Given the description of an element on the screen output the (x, y) to click on. 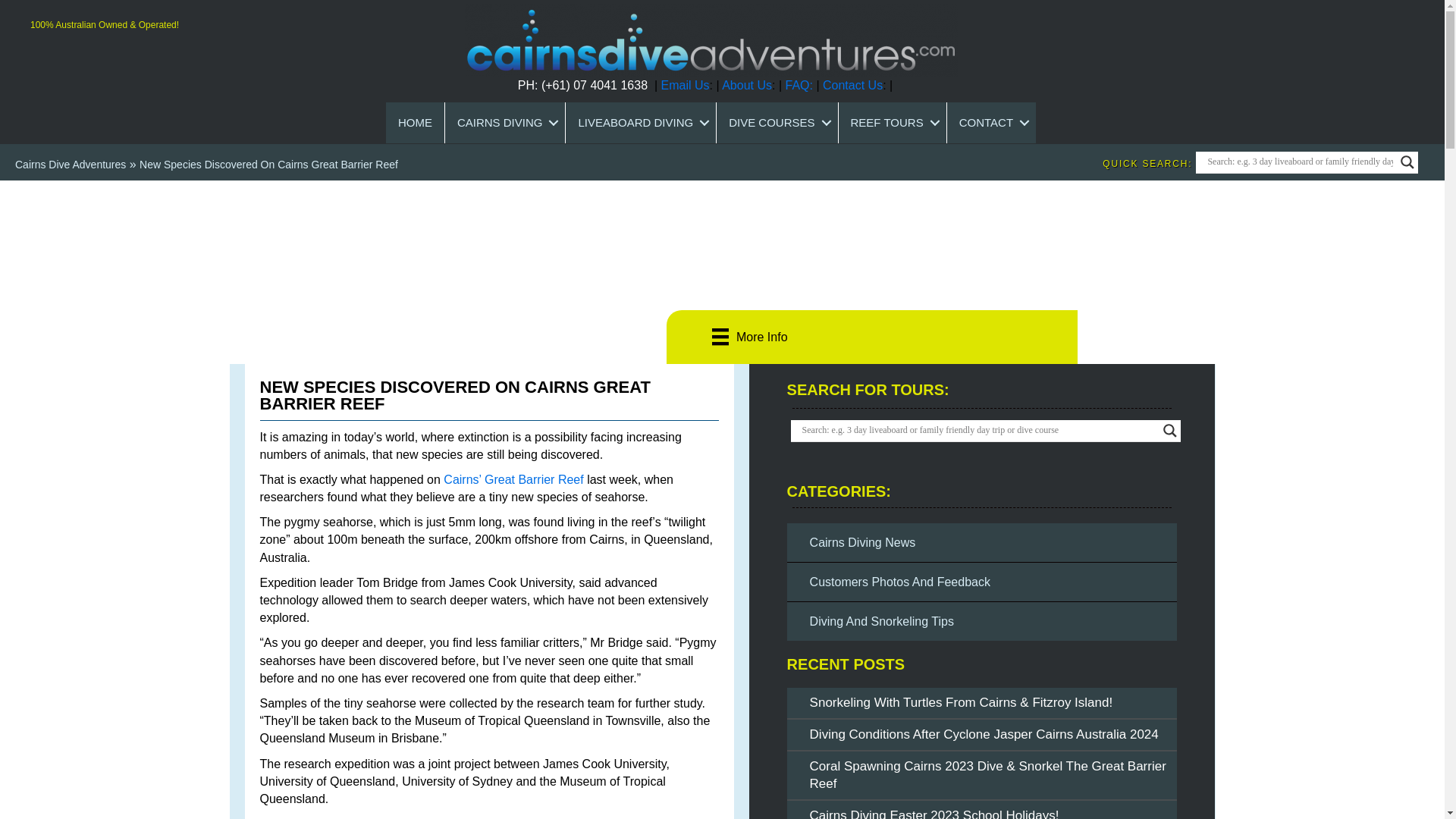
FAQ (796, 84)
About Us (746, 84)
Learn to dive in Cairns (776, 122)
Contact Us (852, 84)
Cairns Dive Adventures (69, 164)
LIVEABOARD DIVING (641, 122)
CAIRNS DIVING (505, 122)
Cairns Dive Adventures Logo (710, 40)
HOME (414, 122)
CONTACT (991, 122)
: (810, 84)
Email Us (685, 84)
REEF TOURS (892, 122)
Cairns Reef Tours (892, 122)
Cairns Liveaboard Diving (641, 122)
